Given the description of an element on the screen output the (x, y) to click on. 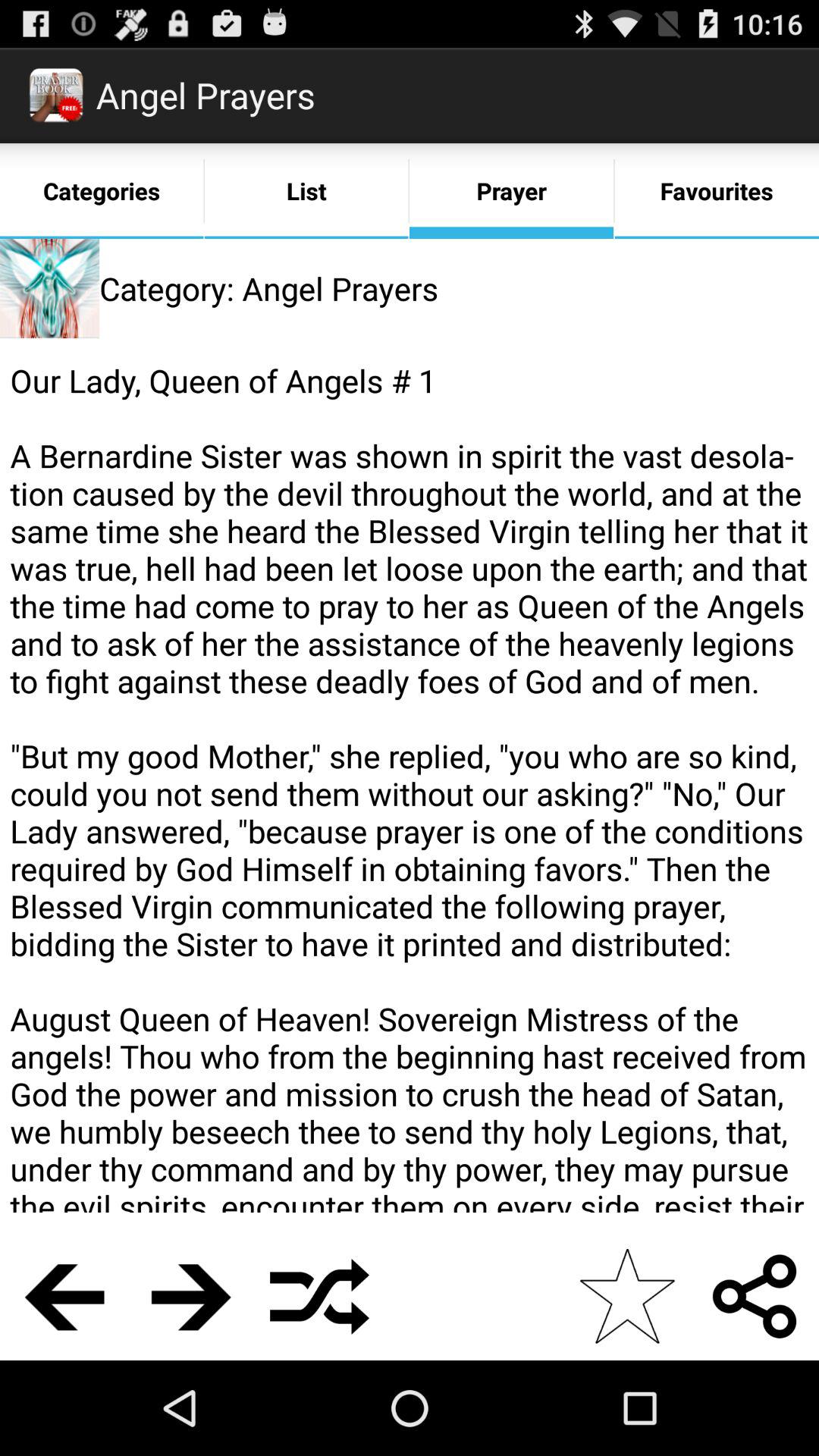
go to back (63, 1296)
